Given the description of an element on the screen output the (x, y) to click on. 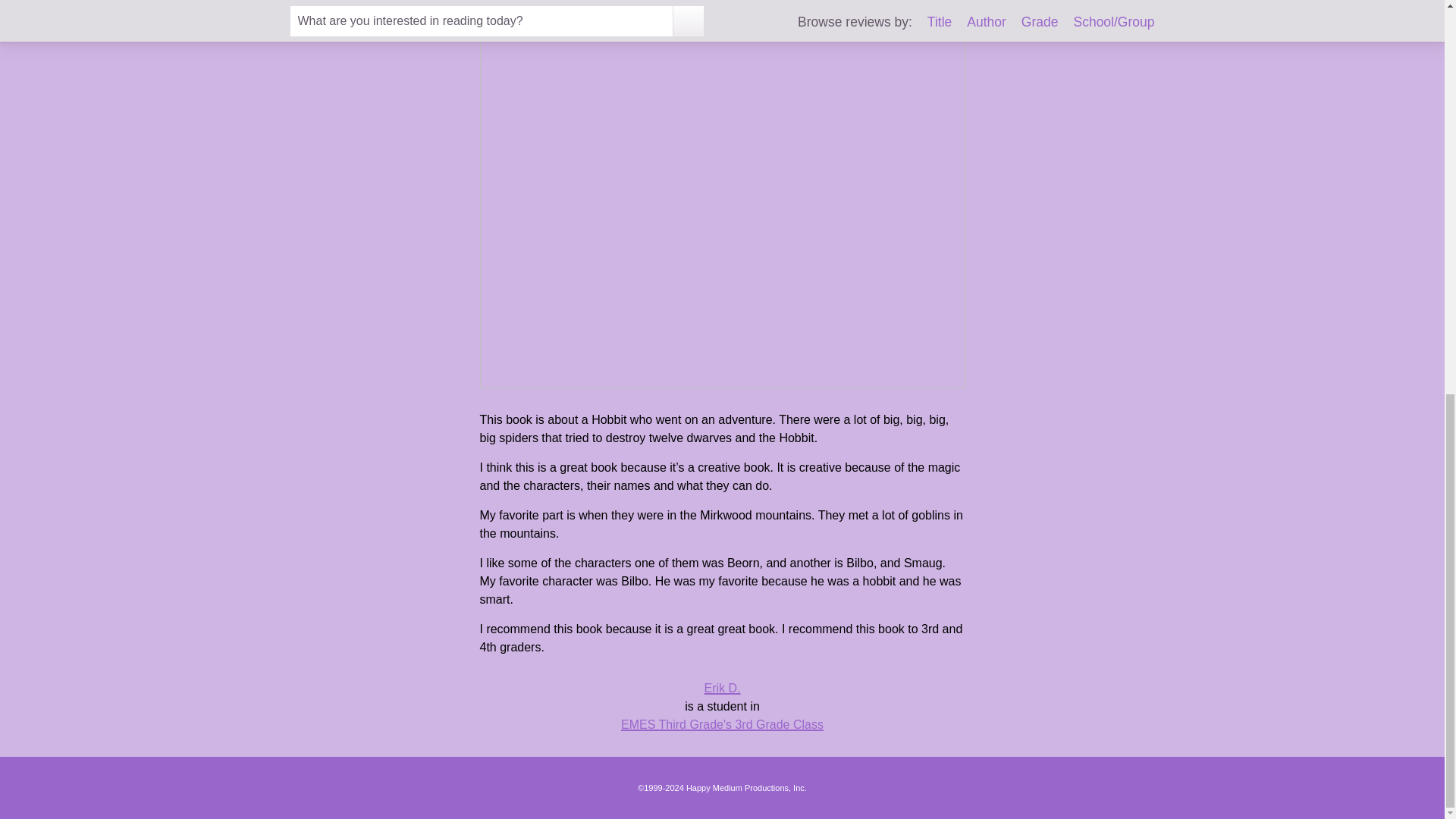
EMES Third Grade's 3rd Grade Class (722, 724)
Erik D. (721, 687)
